Given the description of an element on the screen output the (x, y) to click on. 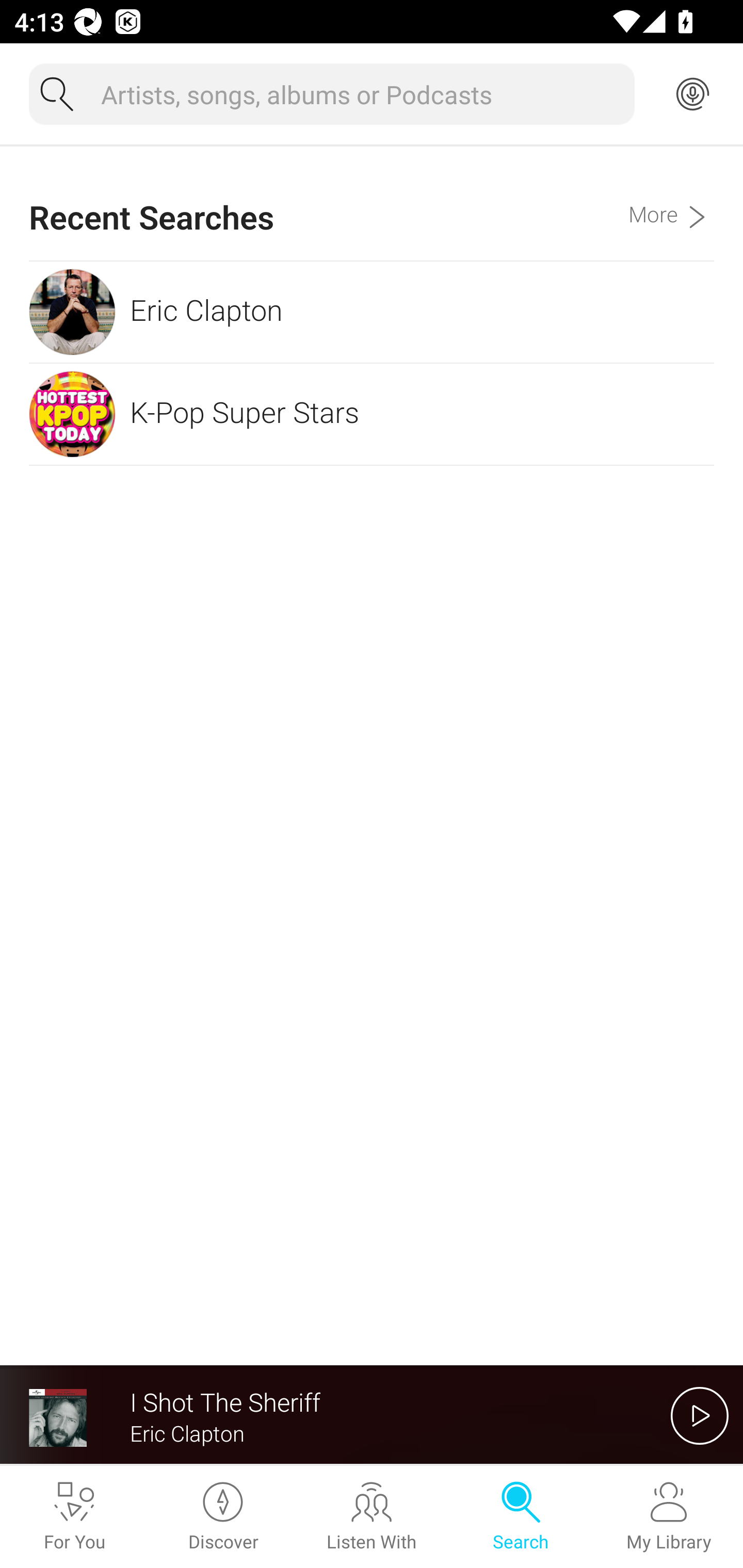
Music recognition (692, 93)
Artists, songs, albums or Podcasts (360, 93)
More Recent Searches More (671, 202)
Eric Clapton (371, 311)
K-Pop Super Stars (371, 413)
開始播放 (699, 1415)
For You (74, 1517)
Discover (222, 1517)
Listen With (371, 1517)
Search (519, 1517)
My Library (668, 1517)
